Given the description of an element on the screen output the (x, y) to click on. 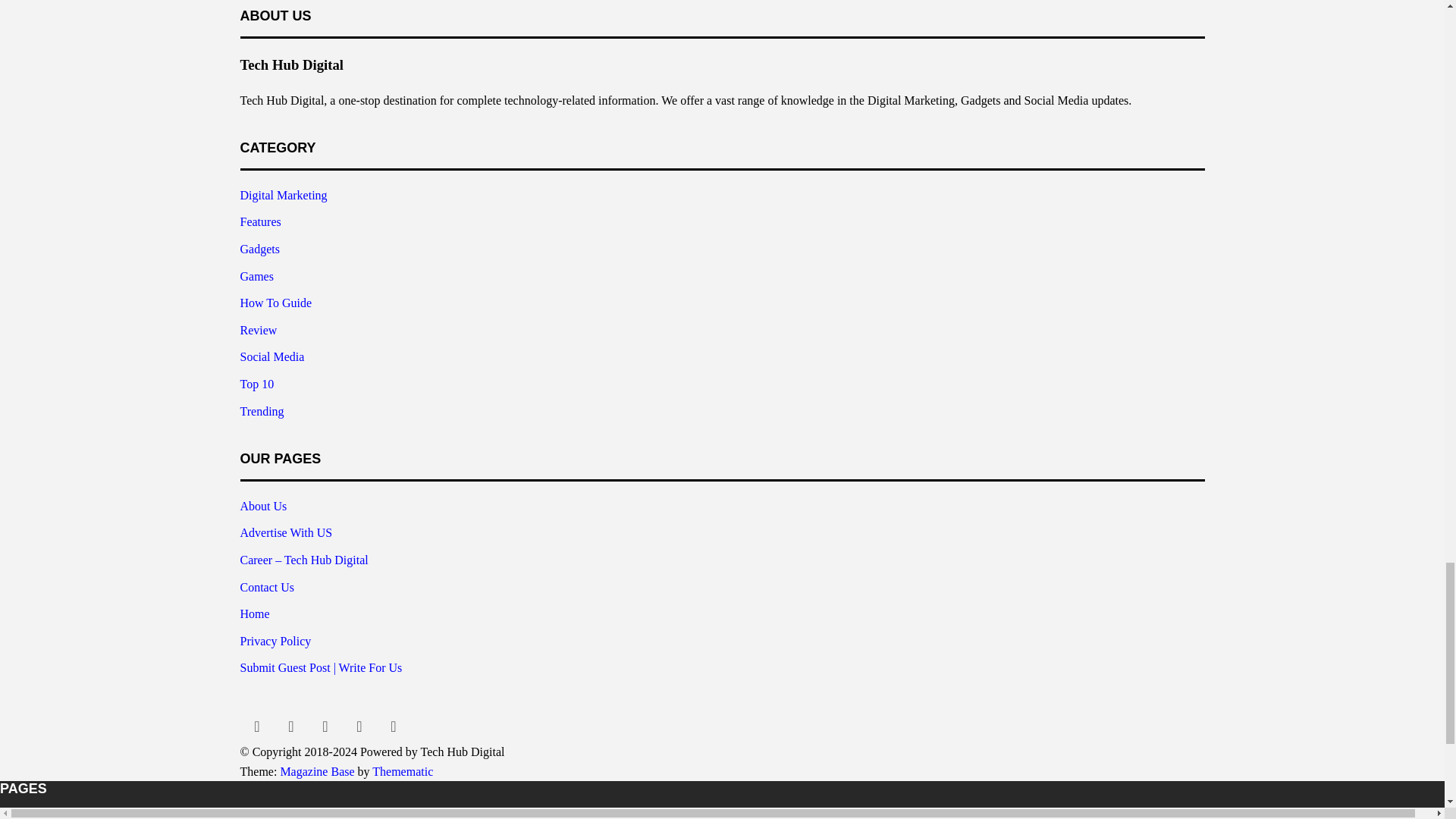
How To Guide (275, 302)
Games (256, 276)
Review (258, 329)
Gadgets (259, 248)
Features (260, 221)
Digital Marketing (283, 195)
